Given the description of an element on the screen output the (x, y) to click on. 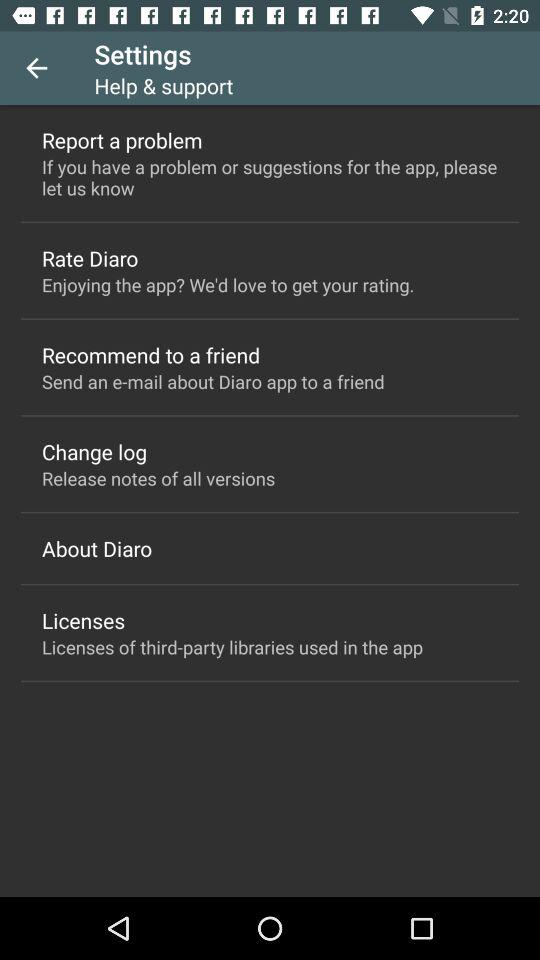
turn on item to the left of settings item (36, 68)
